Given the description of an element on the screen output the (x, y) to click on. 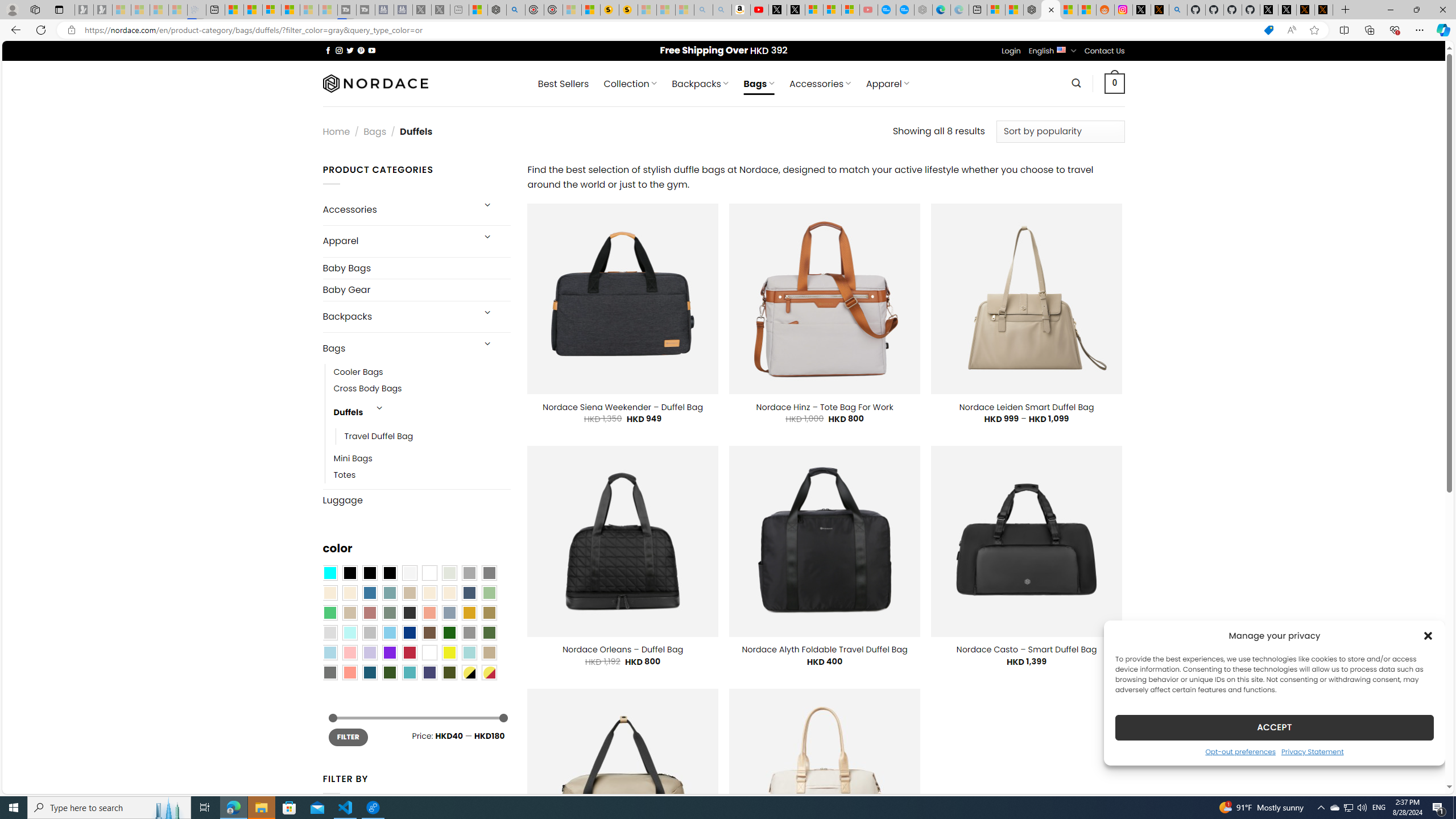
FILTER (347, 737)
Peach Pink (349, 672)
Totes (422, 475)
Navy Blue (408, 632)
Gold (468, 613)
Light Taupe (349, 613)
Baby Gear (416, 289)
Shop order (1060, 131)
Dark Green (449, 632)
Nordace - Nordace has arrived Hong Kong - Sleeping (923, 9)
Follow on YouTube (371, 49)
